Given the description of an element on the screen output the (x, y) to click on. 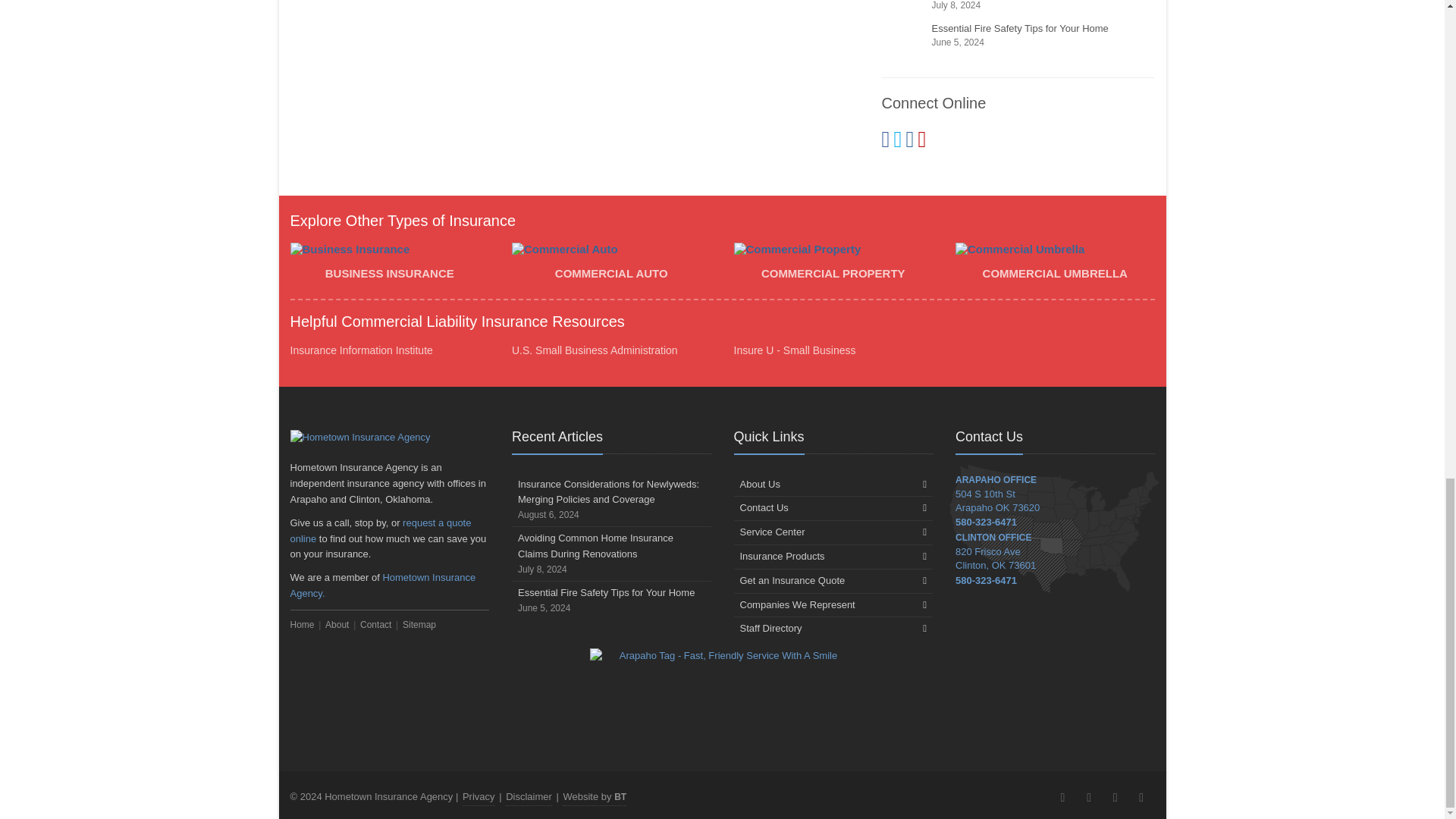
BUSINESS INSURANCE (389, 264)
Insure U - Small Business (794, 349)
U.S. Small Business Administration (595, 349)
request a quote online (379, 530)
Insurance Information Institute (360, 349)
COMMERCIAL AUTO (611, 264)
